Given the description of an element on the screen output the (x, y) to click on. 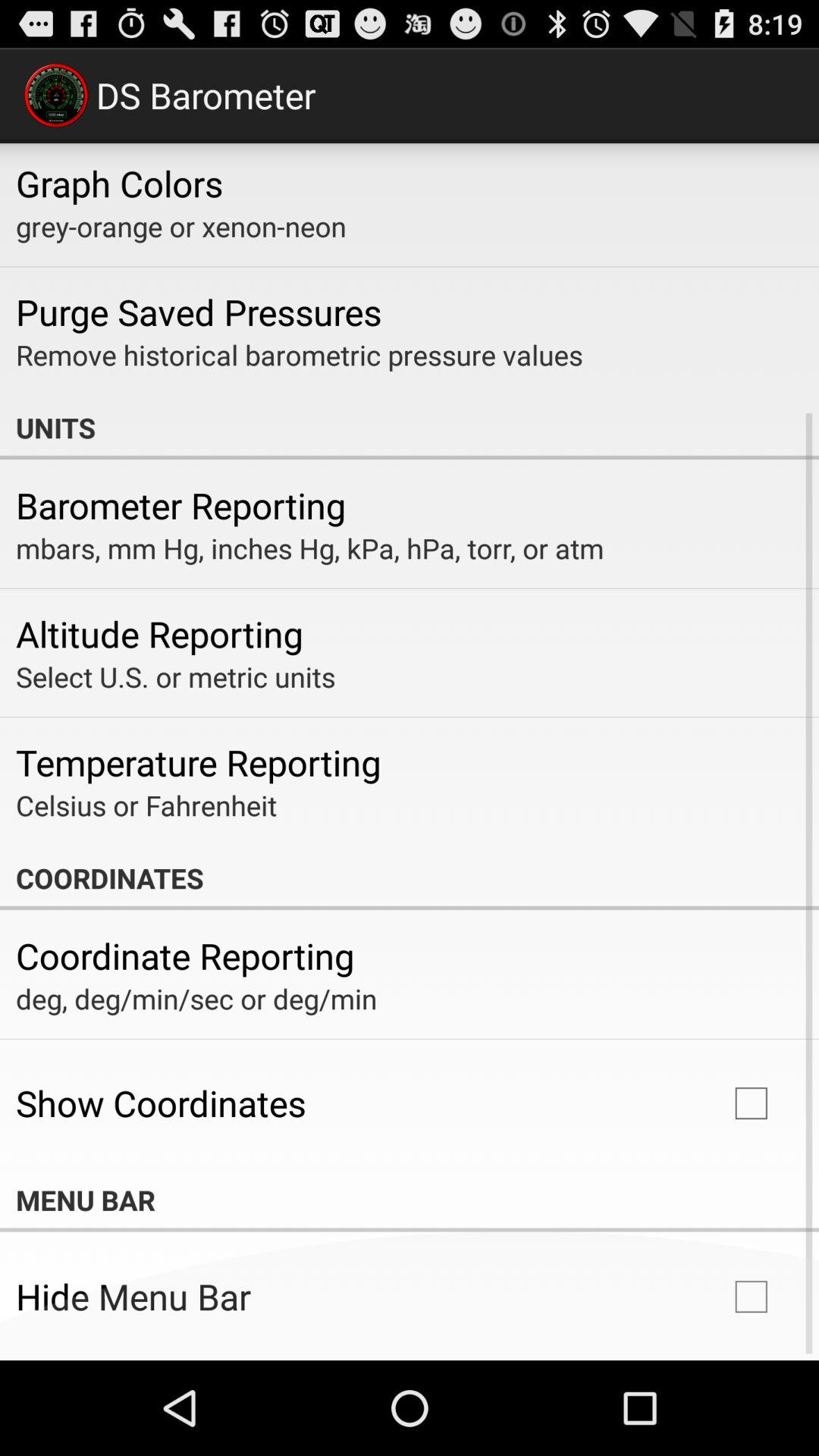
open item above deg deg min app (184, 955)
